Given the description of an element on the screen output the (x, y) to click on. 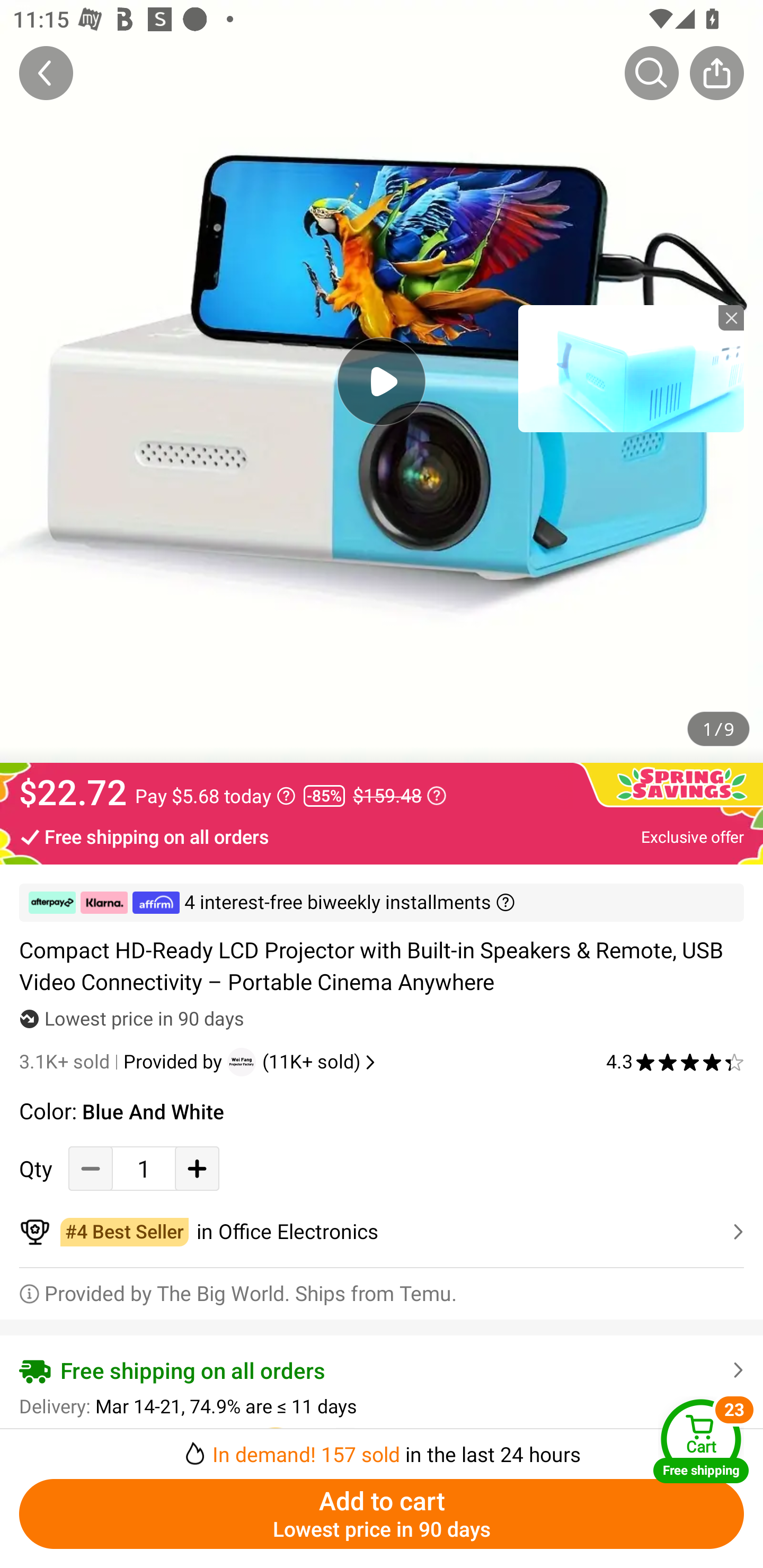
Back (46, 72)
Share (716, 72)
tronplayer_view (631, 368)
Pay $5.68 today   (215, 795)
Free shipping on all orders Exclusive offer (381, 836)
￼ ￼ ￼ 4 interest-free biweekly installments ￼ (381, 902)
4.3 (674, 1061)
Decrease Quantity Button (90, 1168)
1 (143, 1168)
Add Quantity button (196, 1168)
￼￼in Office Electronics (381, 1231)
Cart Free shipping Cart (701, 1440)
￼￼In demand! 157 sold in the last 24 hours (381, 1448)
Add to cart Lowest price in 90 days (381, 1513)
